Given the description of an element on the screen output the (x, y) to click on. 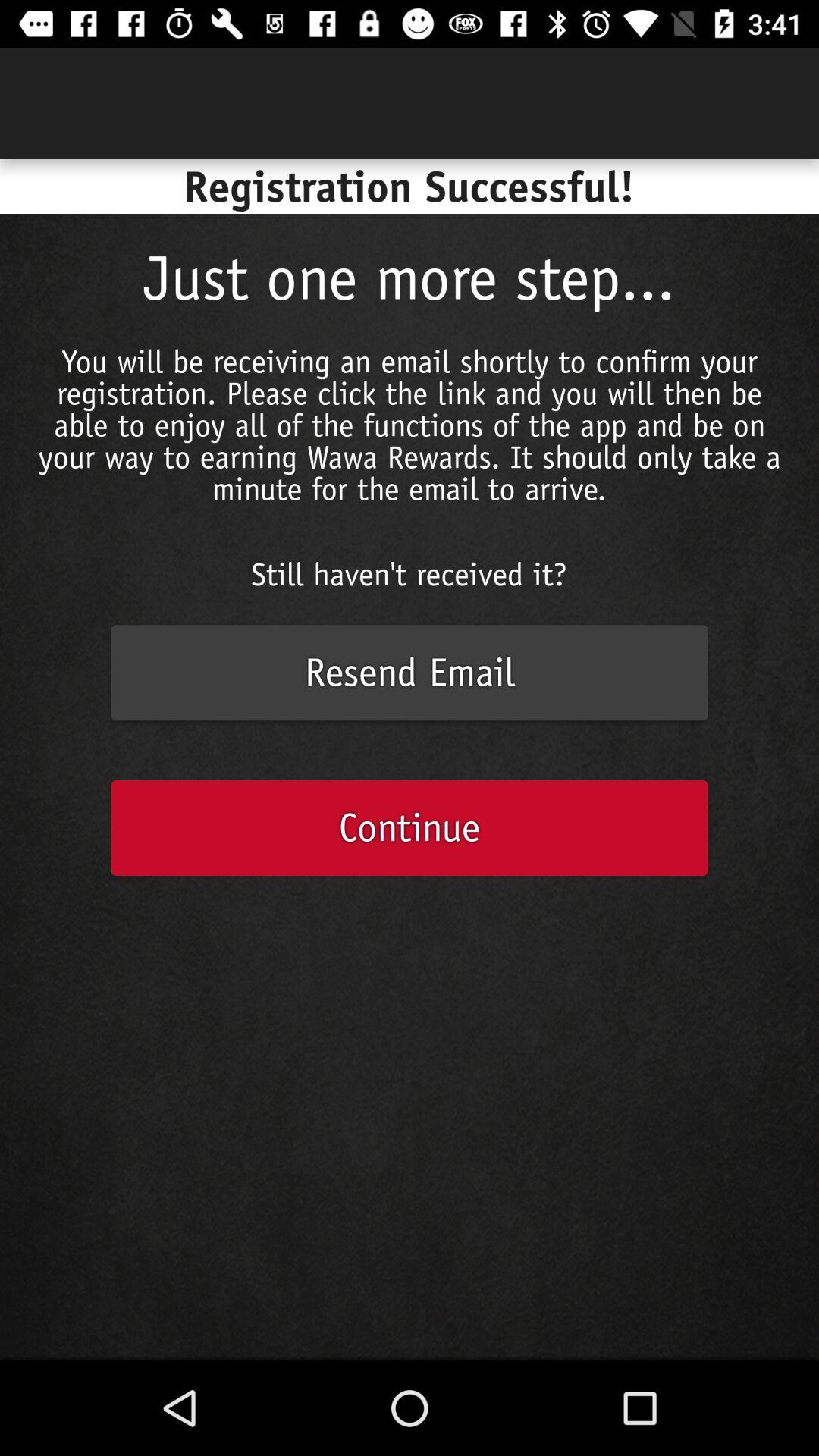
swipe until resend email item (409, 672)
